Given the description of an element on the screen output the (x, y) to click on. 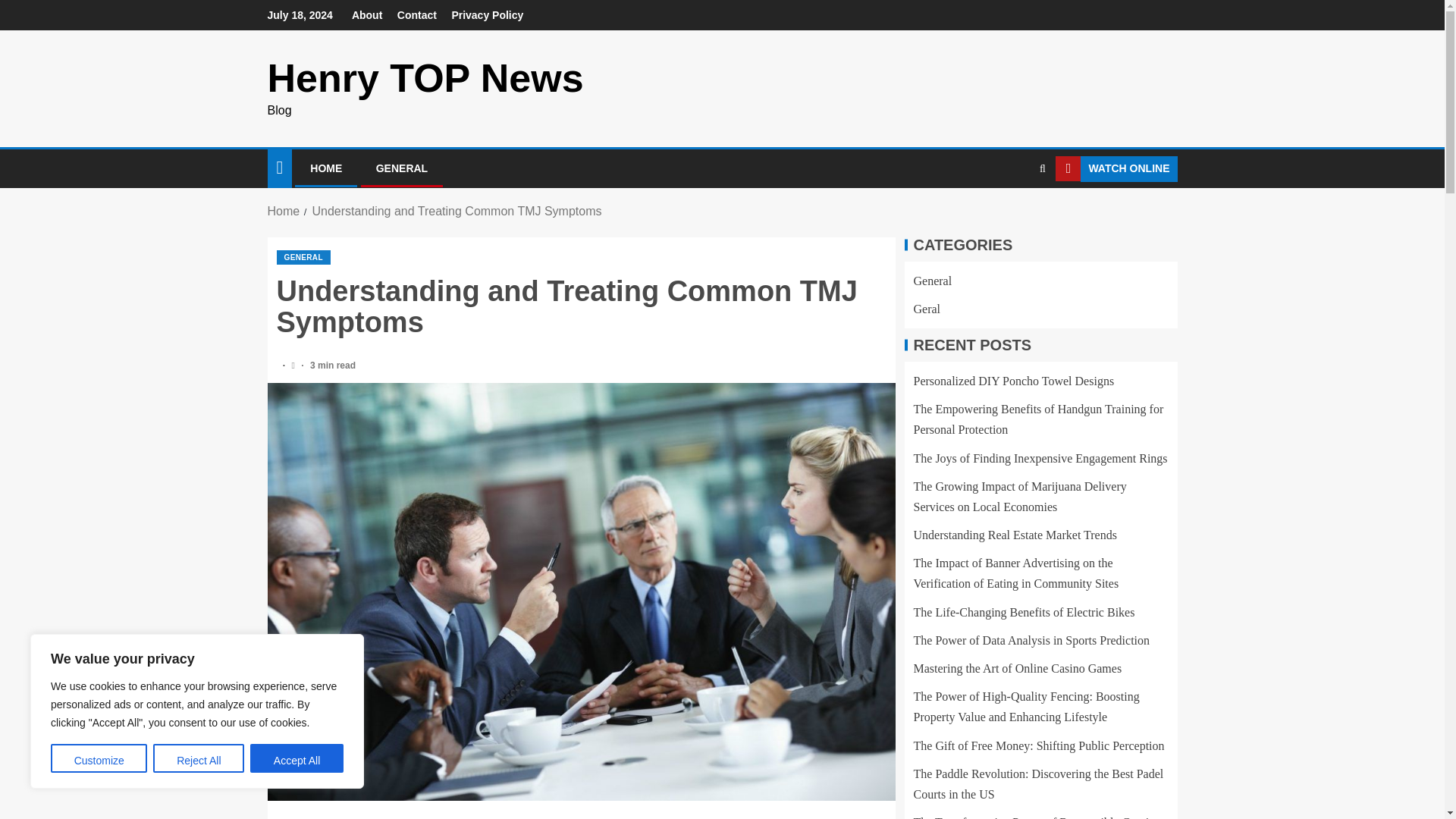
GENERAL (401, 168)
Understanding and Treating Common TMJ Symptoms (456, 210)
WATCH ONLINE (1115, 168)
Home (282, 210)
Accept All (296, 758)
GENERAL (303, 257)
About (366, 15)
Reject All (198, 758)
Henry TOP News (424, 77)
HOME (326, 168)
Contact (416, 15)
Customize (98, 758)
Privacy Policy (486, 15)
